Given the description of an element on the screen output the (x, y) to click on. 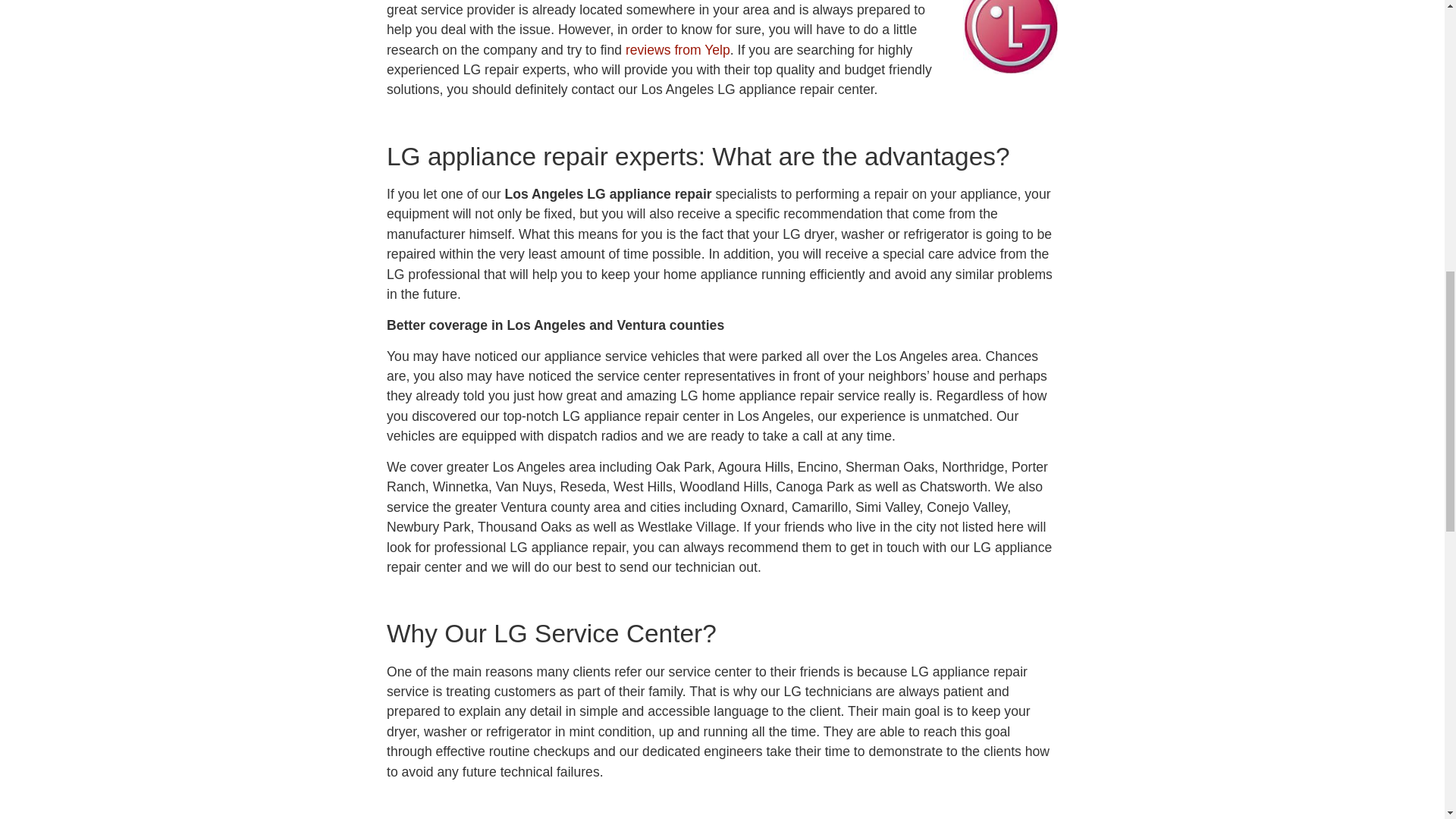
Los Angeles LG appliance repair (1010, 37)
